Given the description of an element on the screen output the (x, y) to click on. 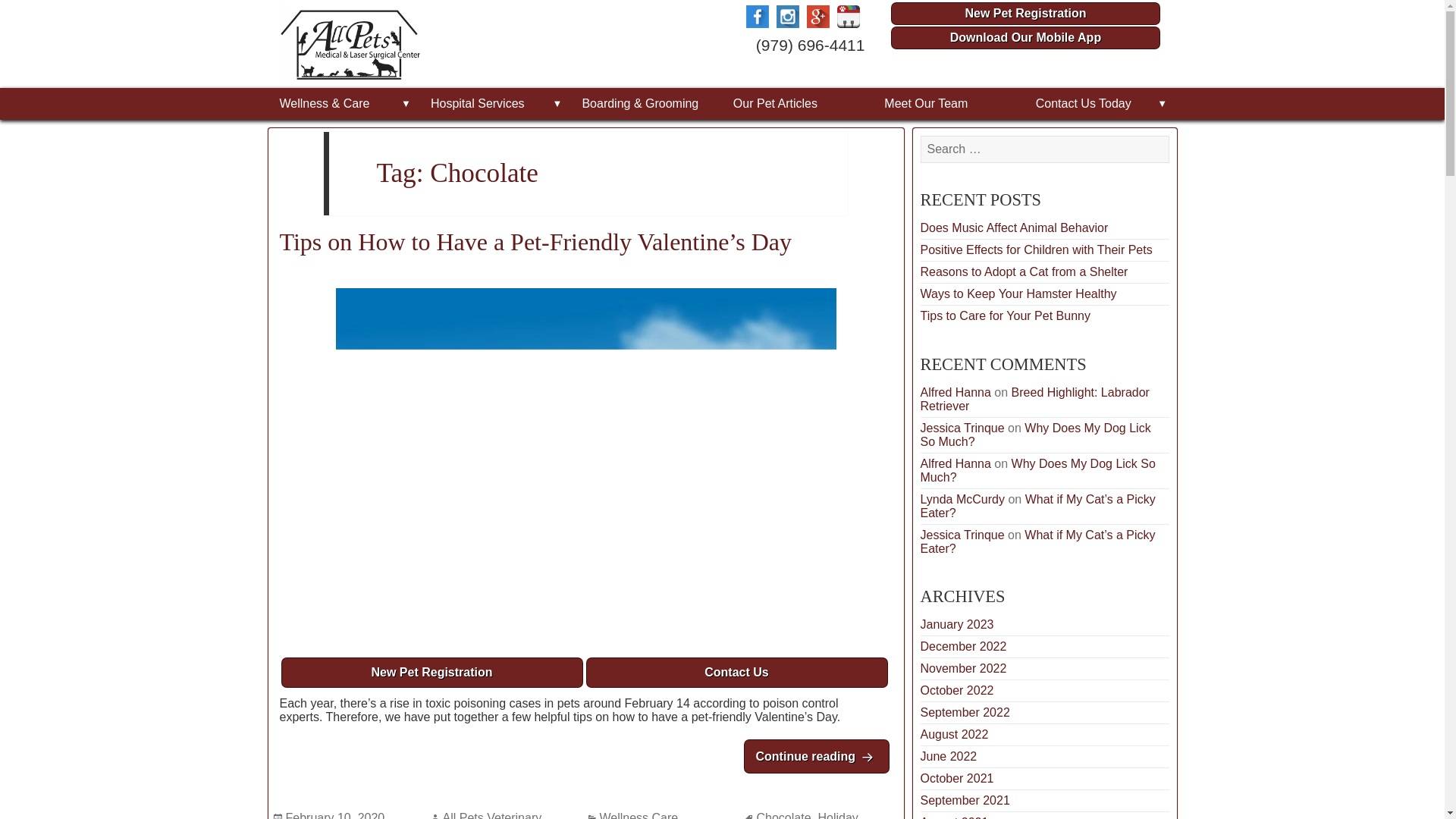
Search (934, 174)
February 10, 2020 (334, 815)
Meet Our Team (947, 103)
Download Our Mobile App (1024, 37)
Contact Us (736, 672)
Hospital Services (494, 103)
Search (934, 174)
Our Pet Articles (796, 103)
New Pet Registration (432, 672)
Wellness Care (638, 815)
